Given the description of an element on the screen output the (x, y) to click on. 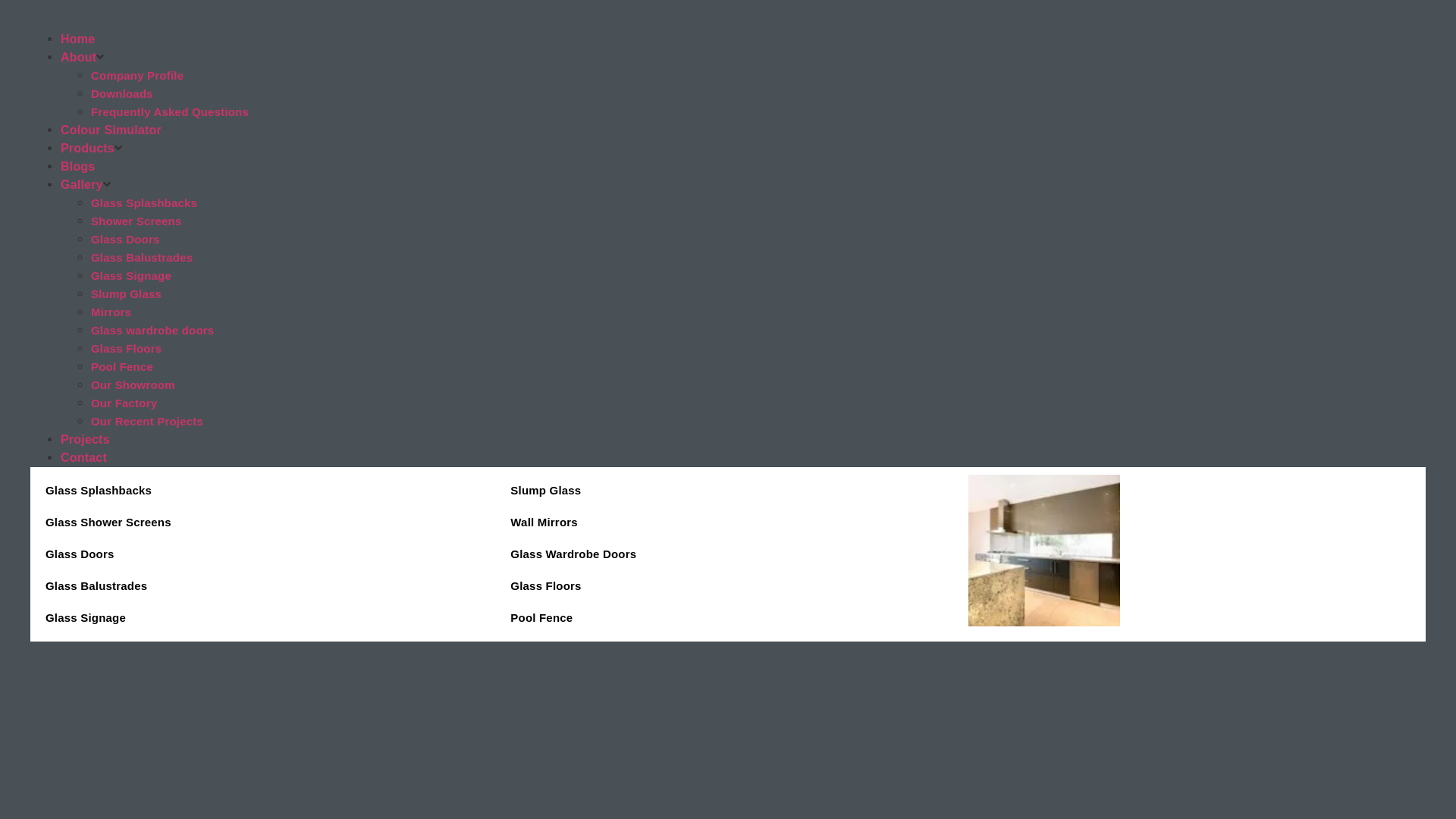
Glass wardrobe doors Element type: text (152, 329)
Slump Glass Element type: text (126, 293)
Wall Mirrors Element type: text (727, 522)
Slump Glass Element type: text (727, 490)
Blogs Element type: text (77, 166)
Colour Simulator Element type: text (110, 129)
About Element type: text (78, 57)
Projects Element type: text (84, 439)
Home Element type: text (77, 38)
Glass Floors Element type: text (727, 585)
Glass Signage Element type: text (262, 617)
Glass Floors Element type: text (126, 348)
Our Factory Element type: text (123, 402)
Glass Balustrades Element type: text (262, 585)
Company Profile Element type: text (137, 75)
Downloads Element type: text (122, 93)
Mirrors Element type: text (111, 311)
Products Element type: text (87, 147)
Glass Doors Element type: text (125, 238)
Glass Wardrobe Doors Element type: text (727, 554)
Glass Balustrades Element type: text (141, 257)
Frequently Asked Questions Element type: text (169, 111)
Pool Fence Element type: text (727, 617)
Our Showroom Element type: text (133, 384)
Glass Doors Element type: text (262, 554)
Glass Splashbacks Element type: text (262, 490)
Gallery Element type: text (81, 184)
Shower Screens Element type: text (136, 220)
Pool Fence Element type: text (122, 366)
Glass Signage Element type: text (131, 275)
Our Recent Projects Element type: text (147, 420)
Glass Splashbacks Element type: text (144, 202)
Glass Shower Screens Element type: text (262, 522)
Contact Element type: text (83, 457)
